Given the description of an element on the screen output the (x, y) to click on. 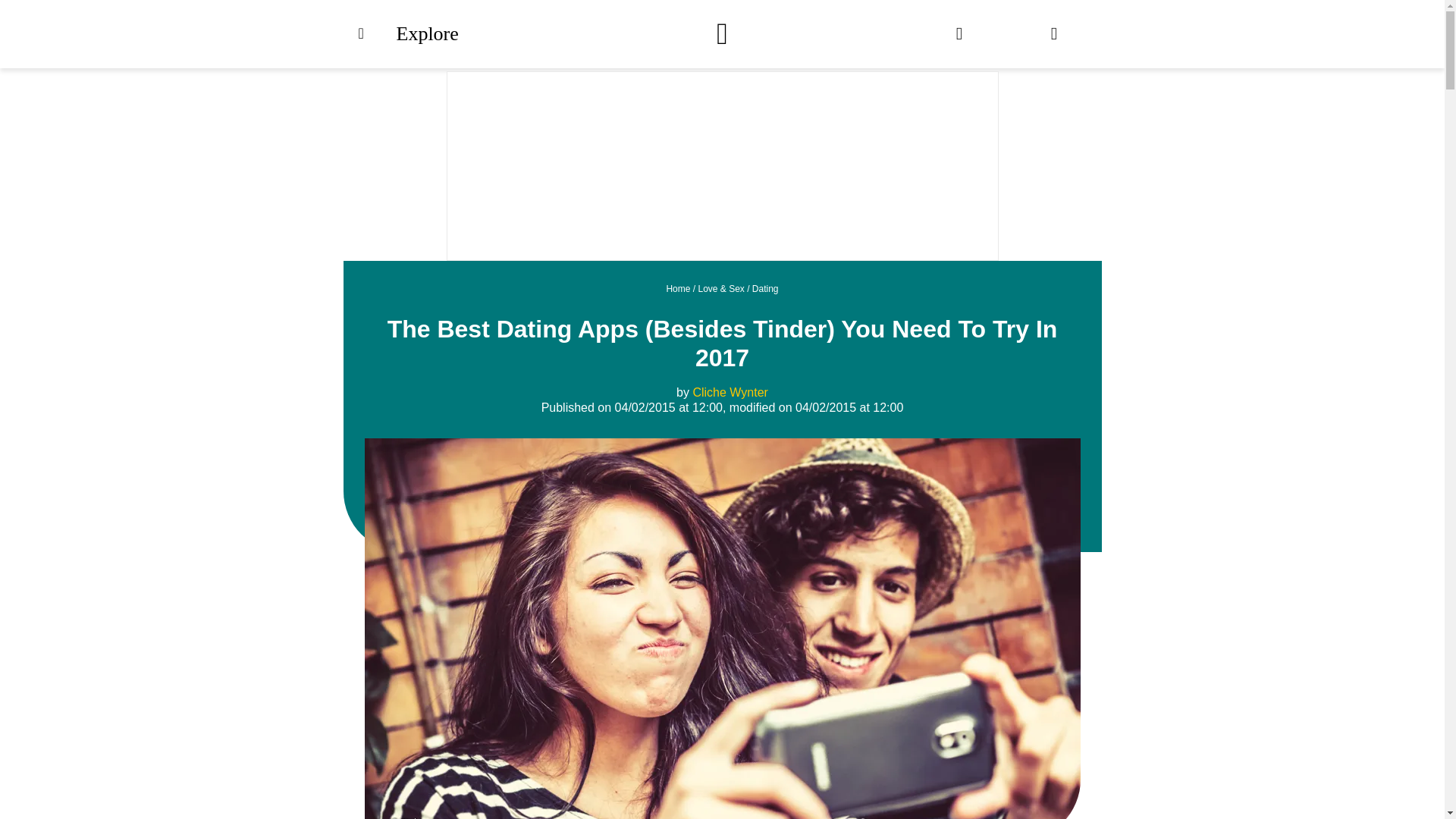
Home (677, 288)
Dating (765, 288)
Cliche Wynter (730, 391)
